Given the description of an element on the screen output the (x, y) to click on. 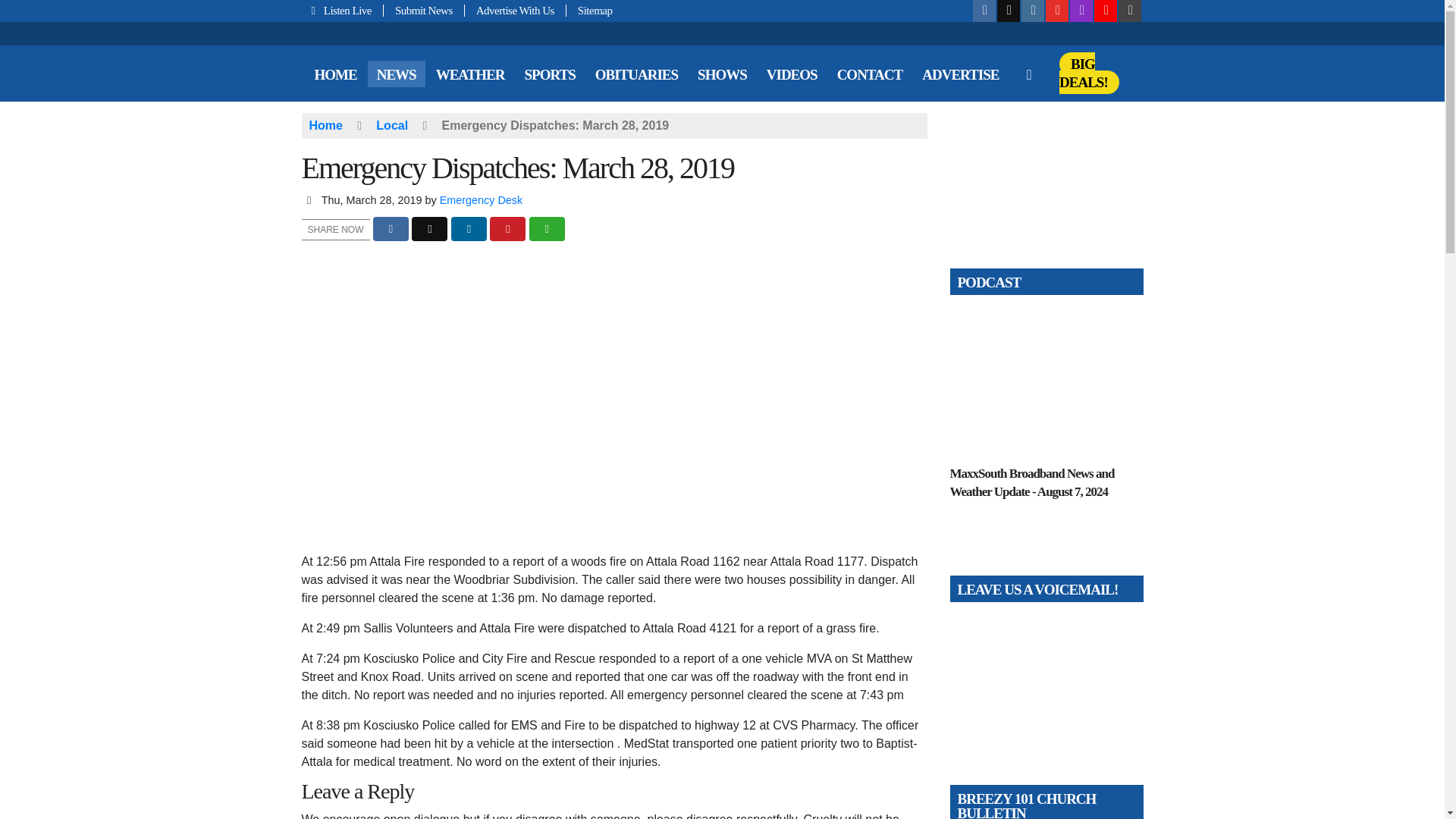
Follow us on Youtube (1056, 11)
Follow our Podcast (1081, 11)
Follow us on X (1008, 11)
Listen Live (342, 10)
Follow us on Soundcloud (1105, 11)
Sitemap (589, 10)
Submit News (424, 10)
Follow us on Instagram (1032, 11)
Follow us on Facebook (983, 11)
Advertise With Us (515, 10)
